Given the description of an element on the screen output the (x, y) to click on. 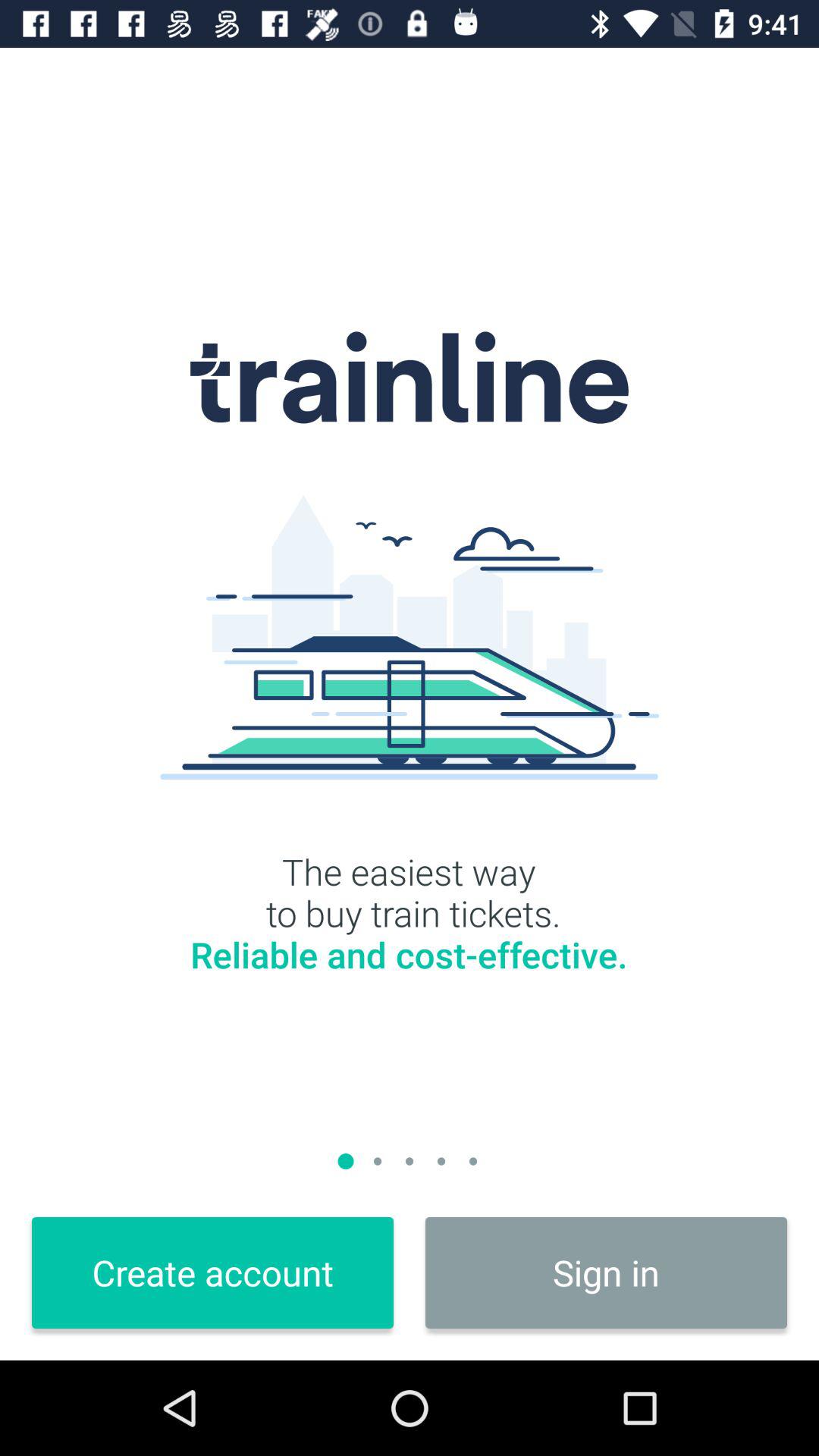
swipe until sign in item (606, 1272)
